Given the description of an element on the screen output the (x, y) to click on. 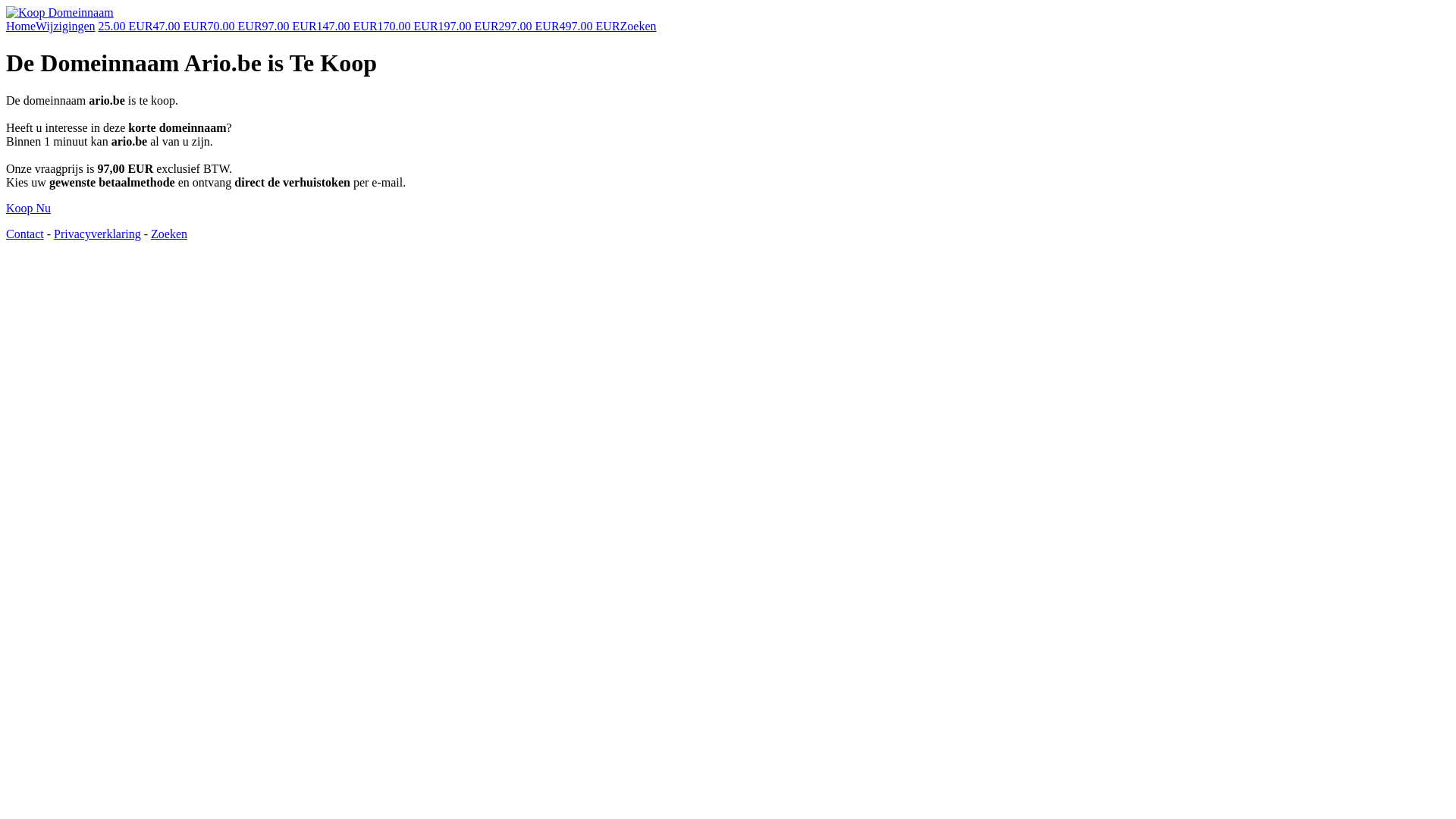
47.00 EUR Element type: text (180, 25)
97.00 EUR Element type: text (289, 25)
Koop Nu Element type: text (28, 207)
Koop Domeinnaam Element type: hover (59, 12)
Contact Element type: text (24, 233)
Koop Domeinnaam Element type: hover (59, 12)
70.00 EUR Element type: text (234, 25)
Home Element type: text (20, 25)
497.00 EUR Element type: text (589, 25)
Zoeken Element type: text (638, 25)
297.00 EUR Element type: text (528, 25)
Privacyverklaring Element type: text (97, 233)
197.00 EUR Element type: text (468, 25)
147.00 EUR Element type: text (346, 25)
Wijzigingen Element type: text (64, 25)
25.00 EUR Element type: text (125, 25)
170.00 EUR Element type: text (407, 25)
Zoeken Element type: text (168, 233)
